Given the description of an element on the screen output the (x, y) to click on. 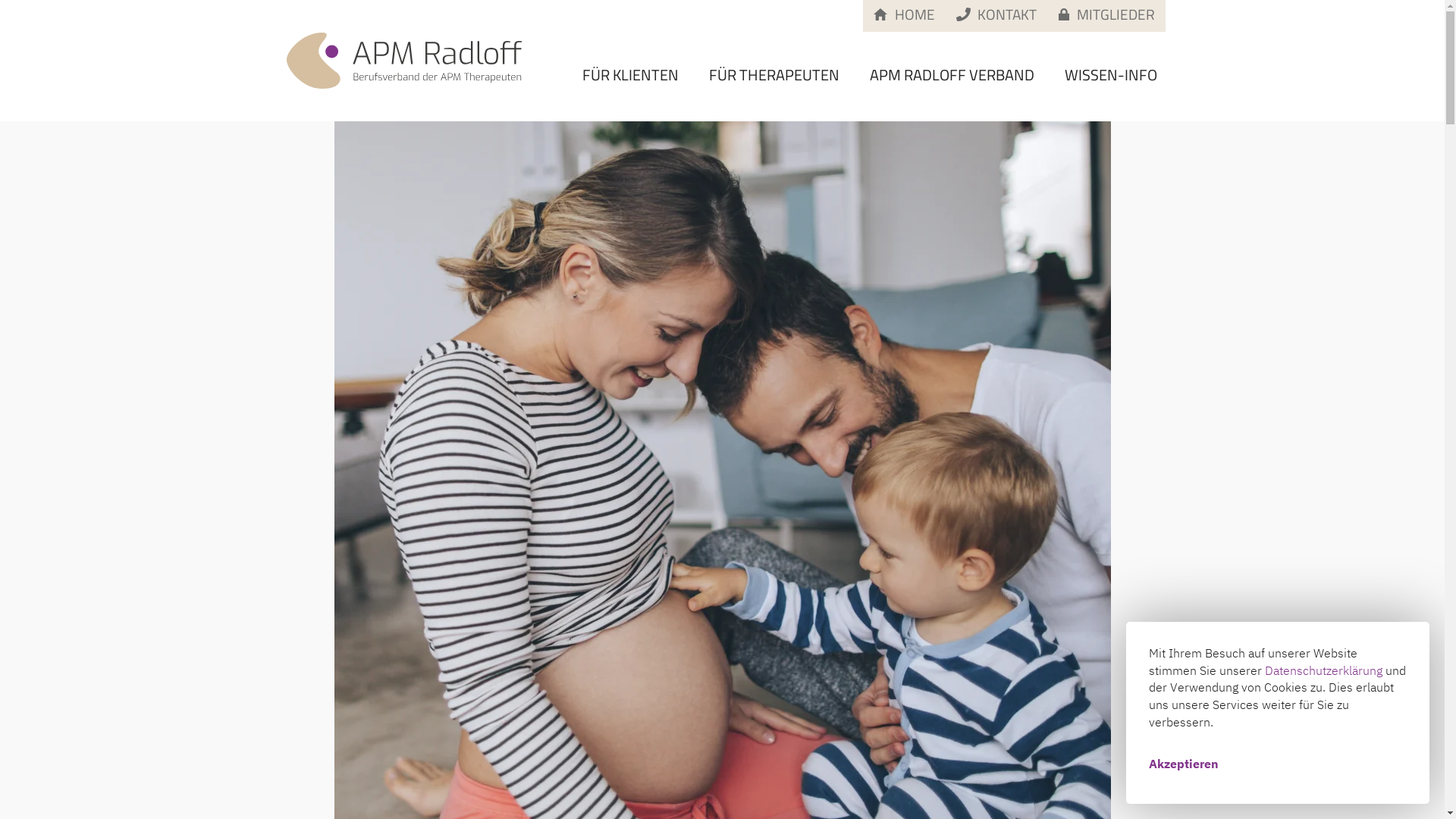
WISSEN-INFO Element type: text (1110, 74)
APM RADLOFF VERBAND Element type: text (951, 74)
